Given the description of an element on the screen output the (x, y) to click on. 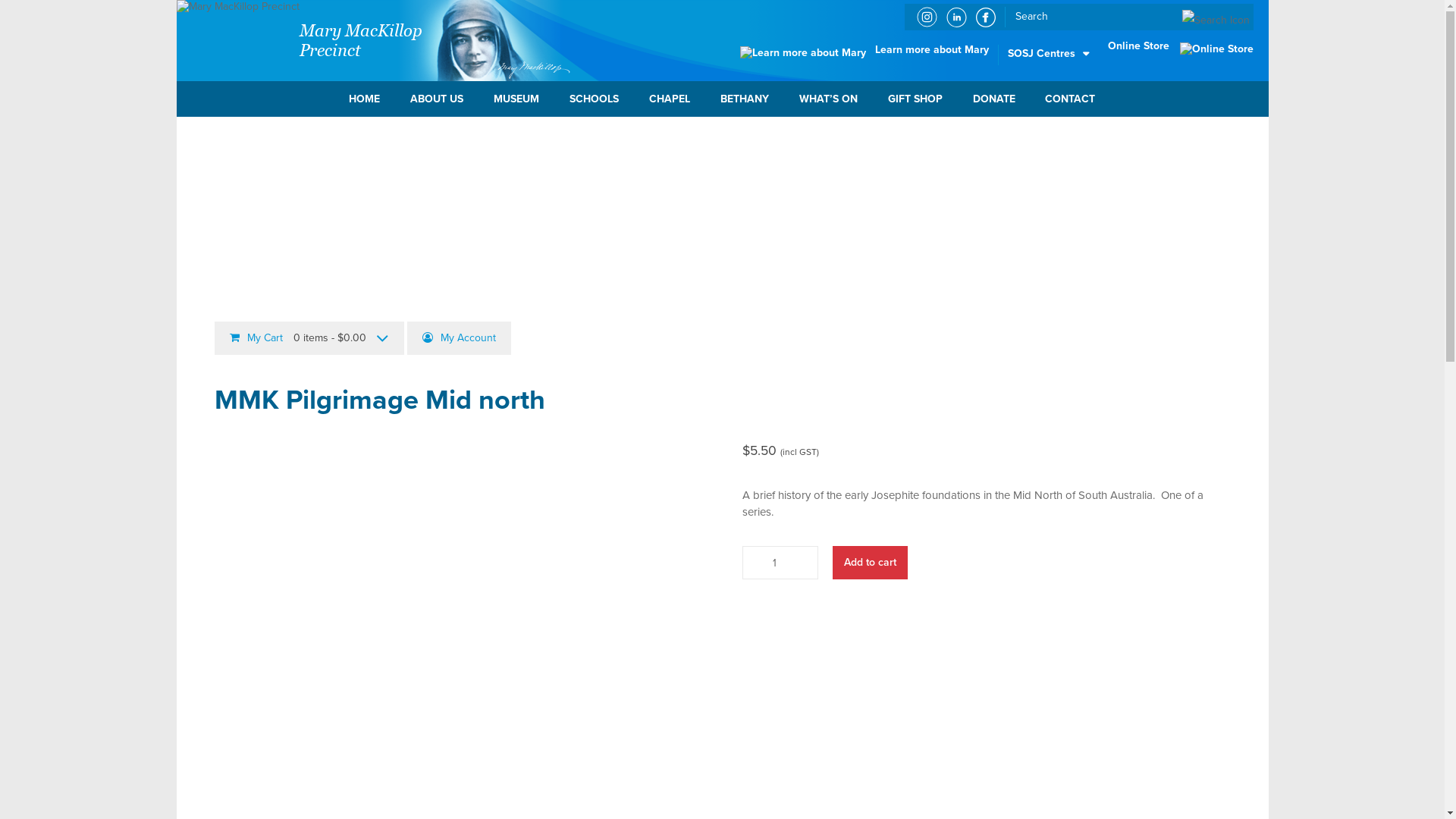
Add to cart Element type: text (869, 562)
Learn more about Mary Element type: text (864, 49)
MUSEUM Element type: text (516, 98)
CONTACT Element type: text (1069, 98)
My Account Element type: text (458, 337)
HOME Element type: text (364, 98)
ABOUT US Element type: text (436, 98)
Submit Element type: text (32, 15)
BETHANY Element type: text (744, 98)
GIFT SHOP Element type: text (915, 98)
Online Store Element type: text (1179, 45)
DONATE Element type: text (994, 98)
CHAPEL Element type: text (669, 98)
SCHOOLS Element type: text (593, 98)
